Given the description of an element on the screen output the (x, y) to click on. 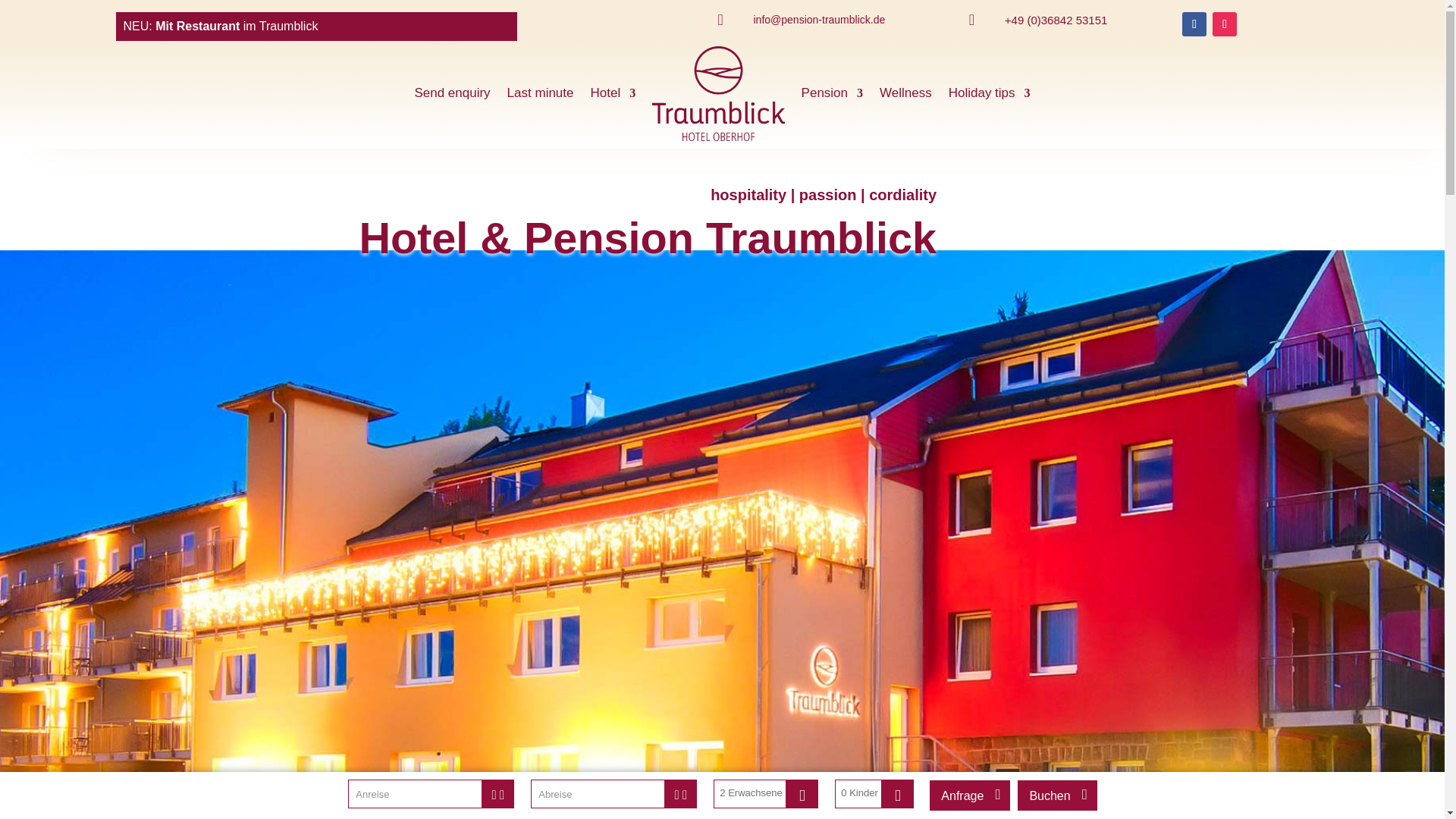
Follow on Instagram (1224, 24)
Follow on Facebook (1194, 24)
